Given the description of an element on the screen output the (x, y) to click on. 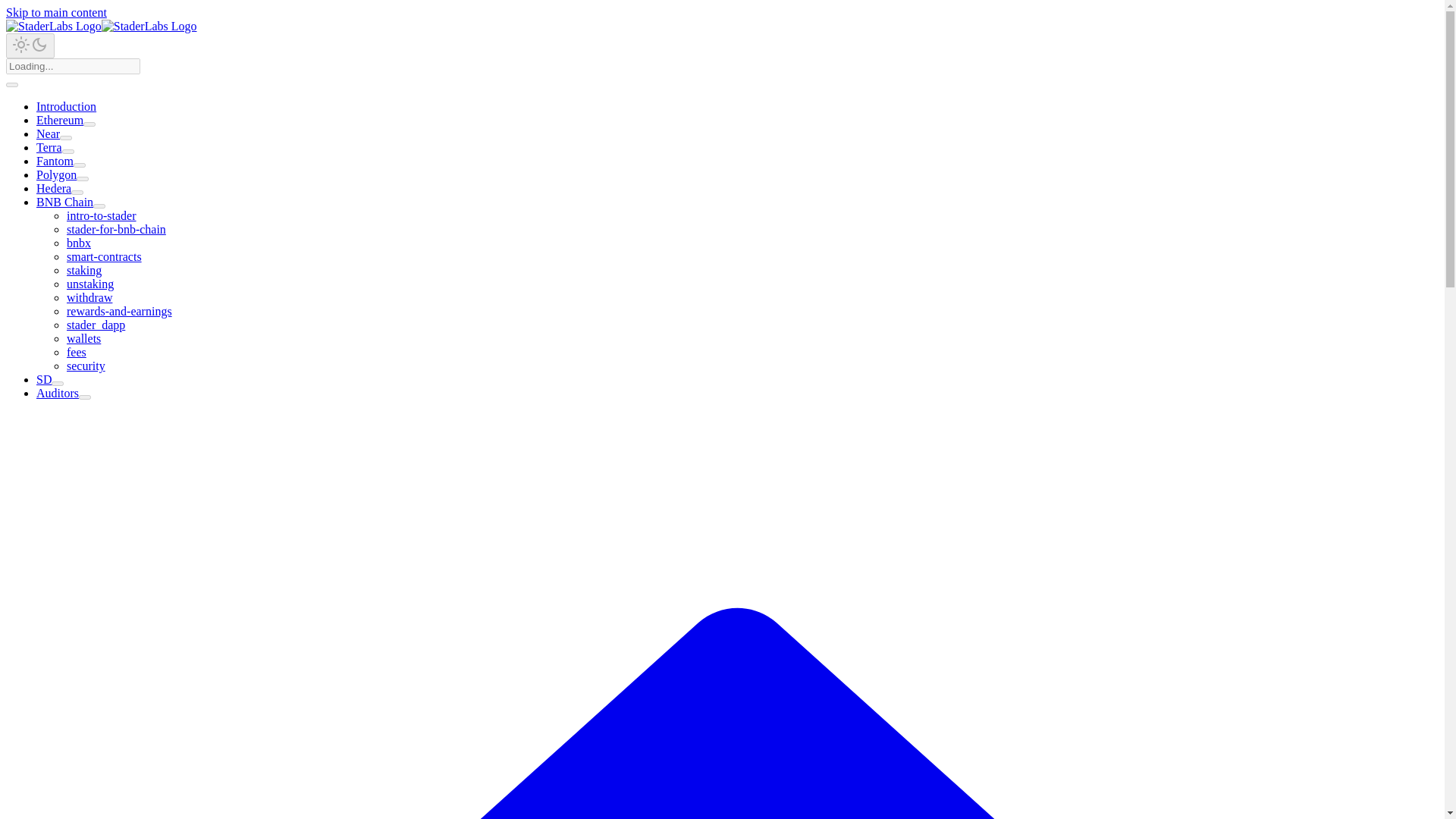
bnbx (78, 242)
stader-for-bnb-chain (115, 228)
Ethereum (59, 119)
wallets (83, 338)
Introduction (66, 106)
withdraw (89, 297)
SD (43, 379)
Polygon (56, 174)
Skip to main content (55, 11)
Fantom (55, 160)
Terra (49, 146)
unstaking (89, 283)
BNB Chain (64, 201)
rewards-and-earnings (118, 310)
Hedera (53, 187)
